Given the description of an element on the screen output the (x, y) to click on. 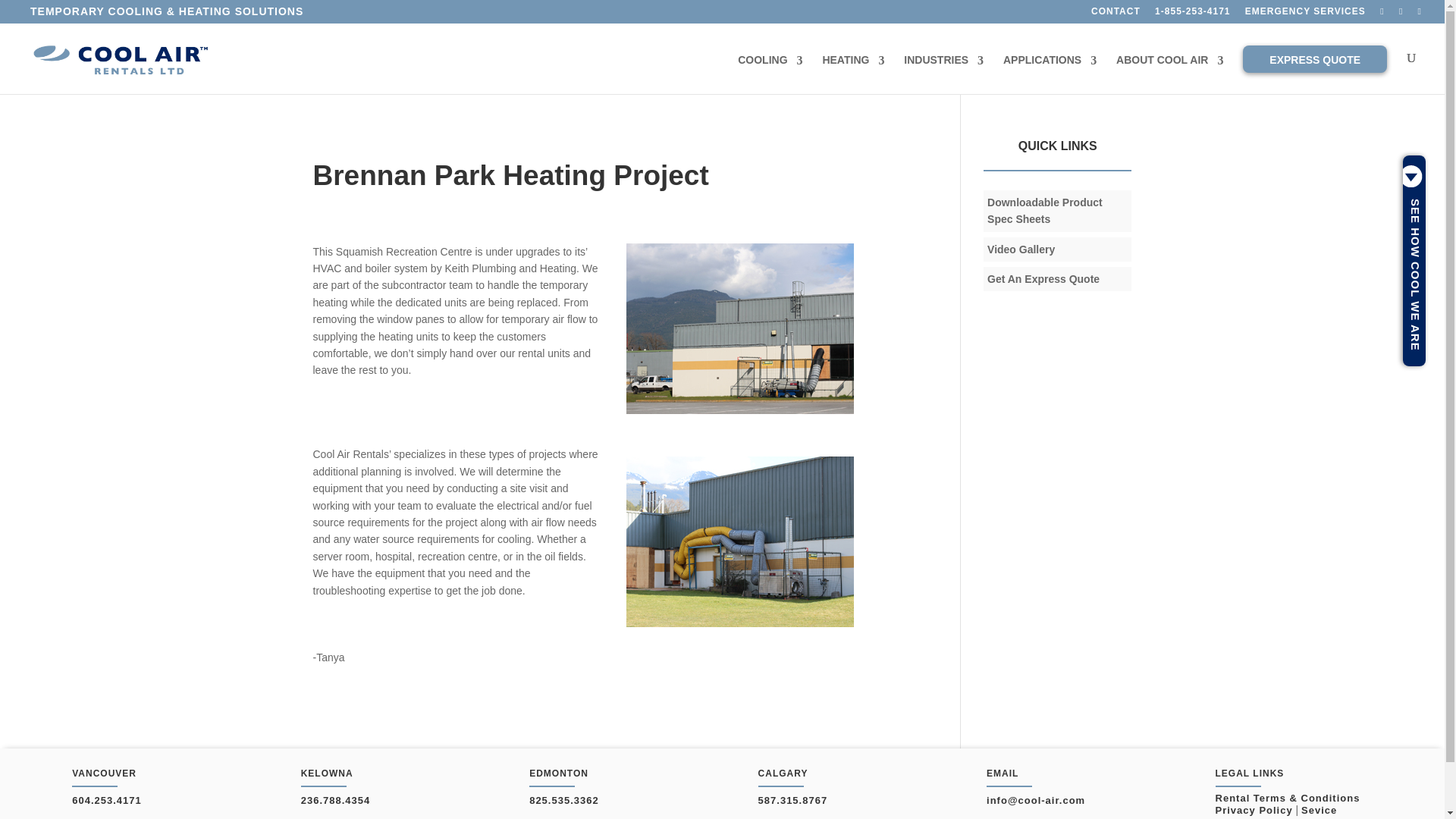
1-855-253-4171 (1192, 14)
APPLICATIONS (1049, 71)
HEATING (852, 71)
CONTACT (1115, 14)
185kW Diesel-fired Heater on Trailer (739, 541)
INDUSTRIES (944, 71)
EMERGENCY SERVICES (1304, 14)
COOLING (770, 71)
185kW Diesel-fired Heater on Trailer (739, 328)
